Given the description of an element on the screen output the (x, y) to click on. 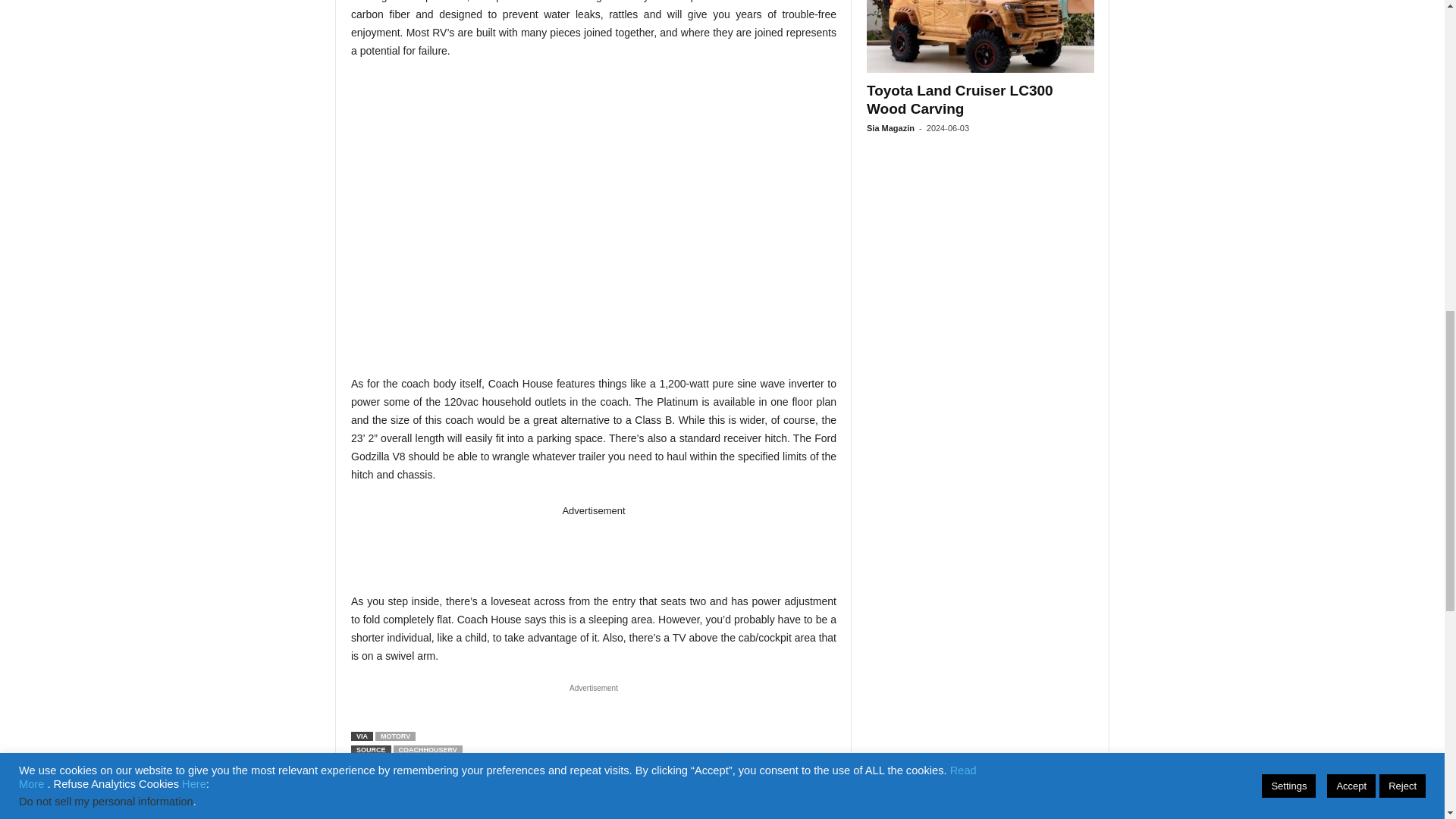
MOTORV (394, 736)
Twitter (400, 809)
Facebook (365, 809)
COACHHOUSERV (428, 749)
YouTube video player (592, 214)
bottomFacebookLike (390, 785)
